Given the description of an element on the screen output the (x, y) to click on. 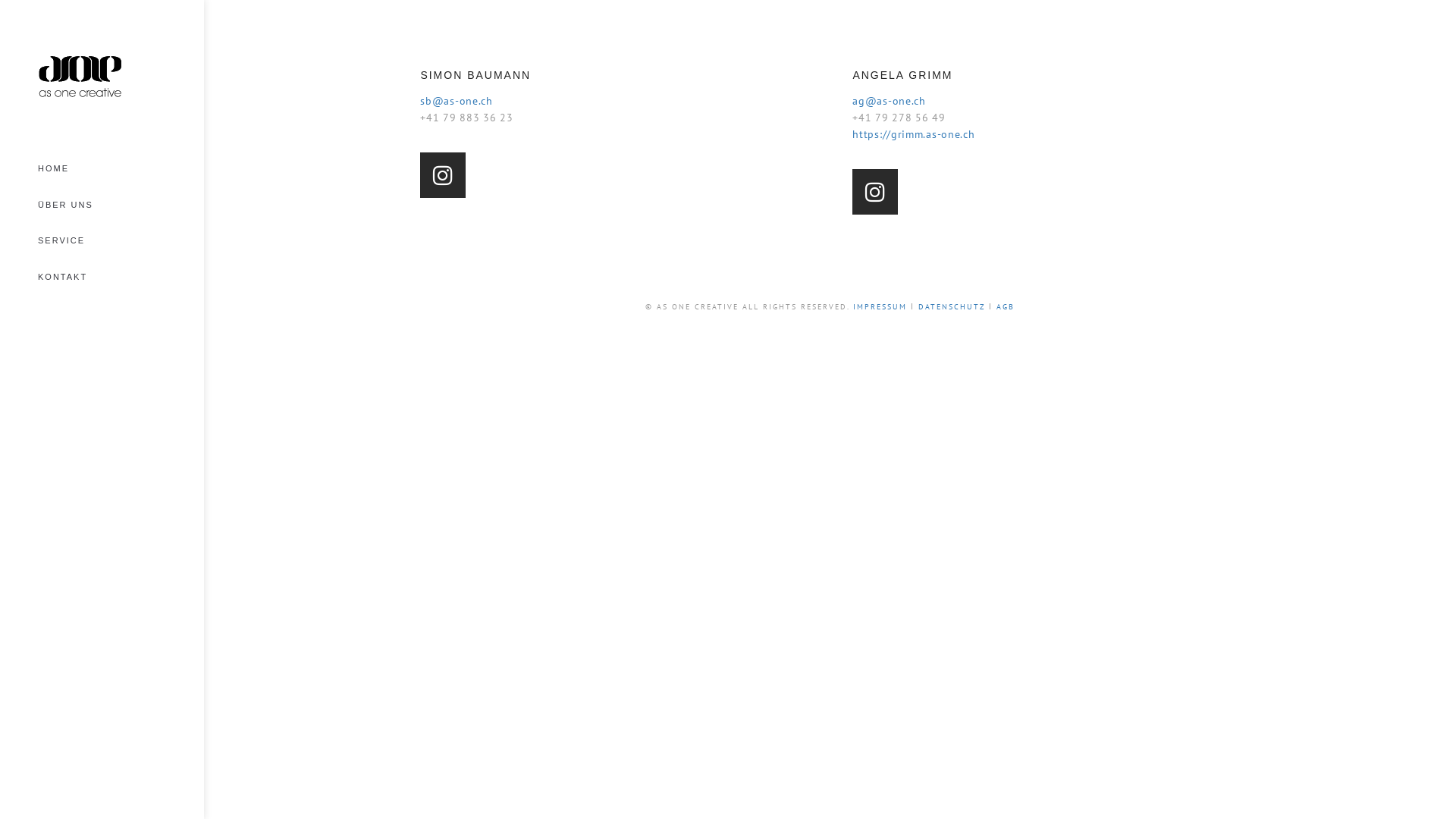
KONTAKT Element type: text (62, 276)
HOME Element type: text (53, 167)
sb@as-one.ch Element type: text (456, 100)
ag@as-one.ch Element type: text (888, 100)
AGB Element type: text (1005, 306)
https://grimm.as-one.ch Element type: text (913, 134)
DATENSCHUTZ Element type: text (951, 306)
SERVICE Element type: text (60, 239)
IMPRESSUM Element type: text (879, 306)
